Given the description of an element on the screen output the (x, y) to click on. 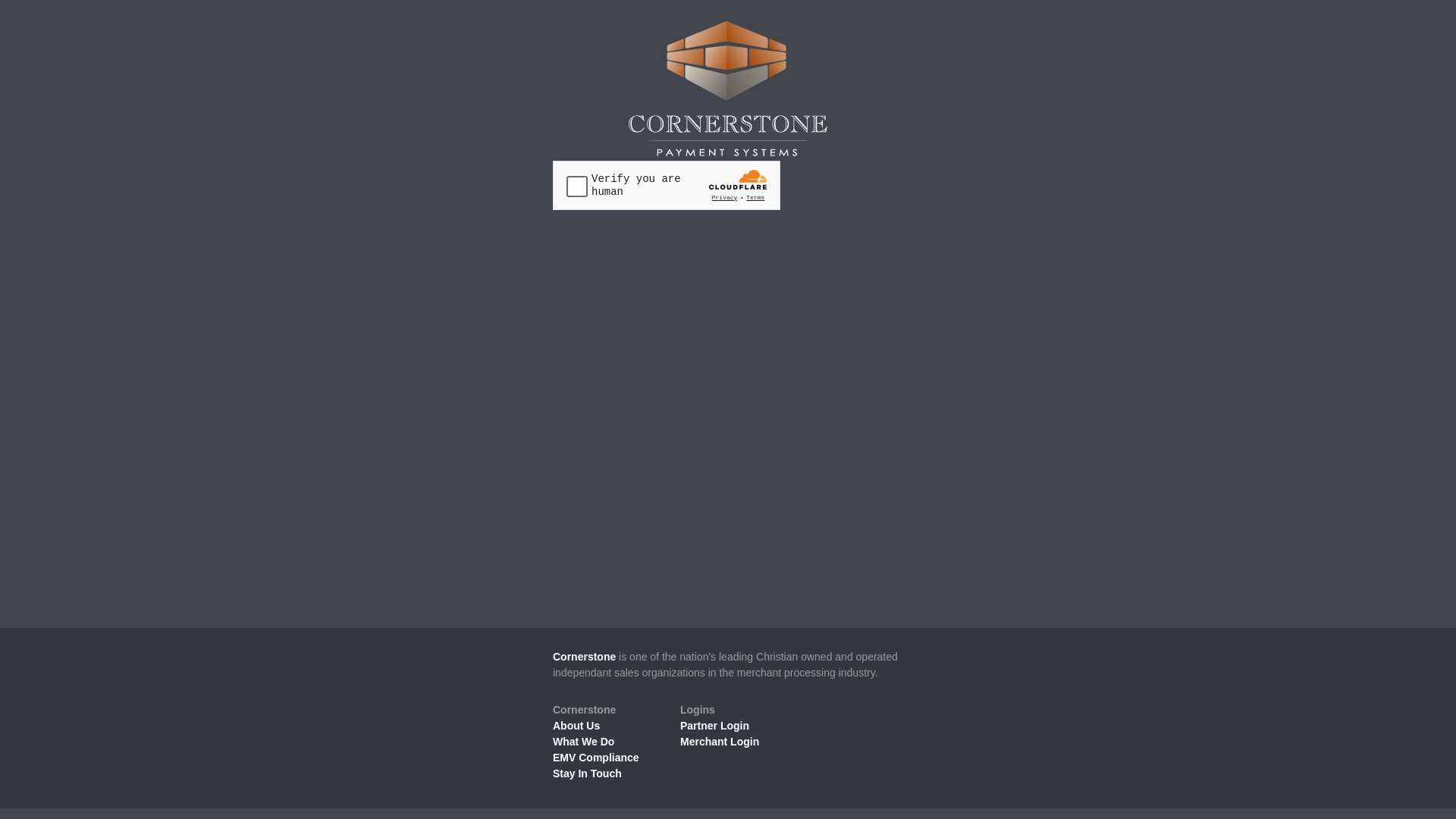
Widget containing a Cloudflare security challenge Element type: hover (666, 185)
EMV Compliance Element type: text (595, 757)
Merchant Login Element type: text (719, 741)
About Us Element type: text (575, 725)
Cornerstone Element type: text (583, 656)
Partner Login Element type: text (714, 725)
Stay In Touch Element type: text (586, 773)
What We Do Element type: text (583, 741)
